Given the description of an element on the screen output the (x, y) to click on. 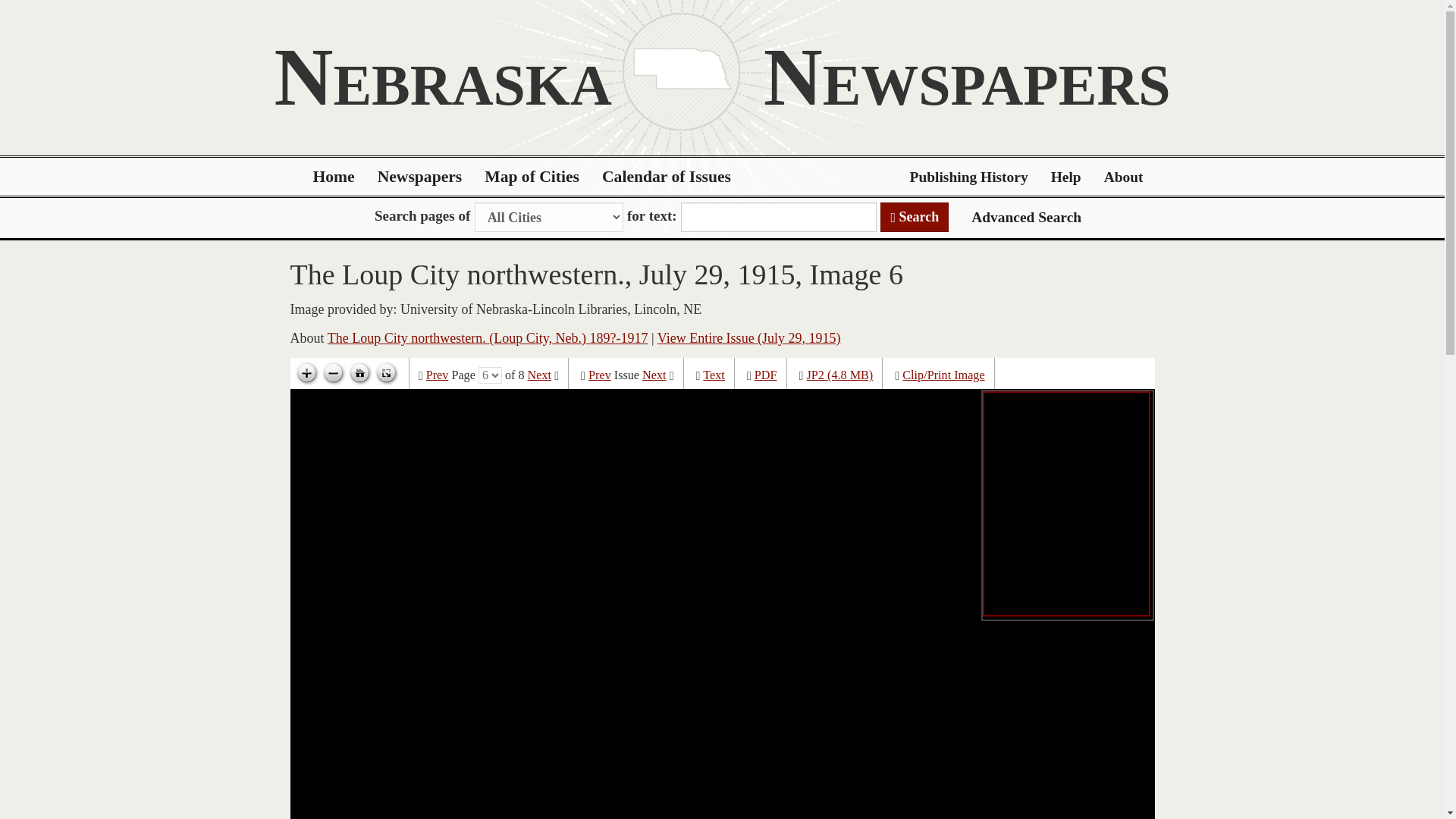
Zoom in (307, 373)
Advanced Search (1026, 216)
Calendar of Issues (666, 176)
Go home (359, 373)
Map of Cities (532, 176)
Home (333, 176)
About (1123, 176)
PDF (765, 375)
Help (1066, 176)
Next (539, 375)
Newspapers (420, 176)
Toggle full page (385, 373)
Search (914, 217)
Publishing History (968, 176)
Prev (599, 375)
